Given the description of an element on the screen output the (x, y) to click on. 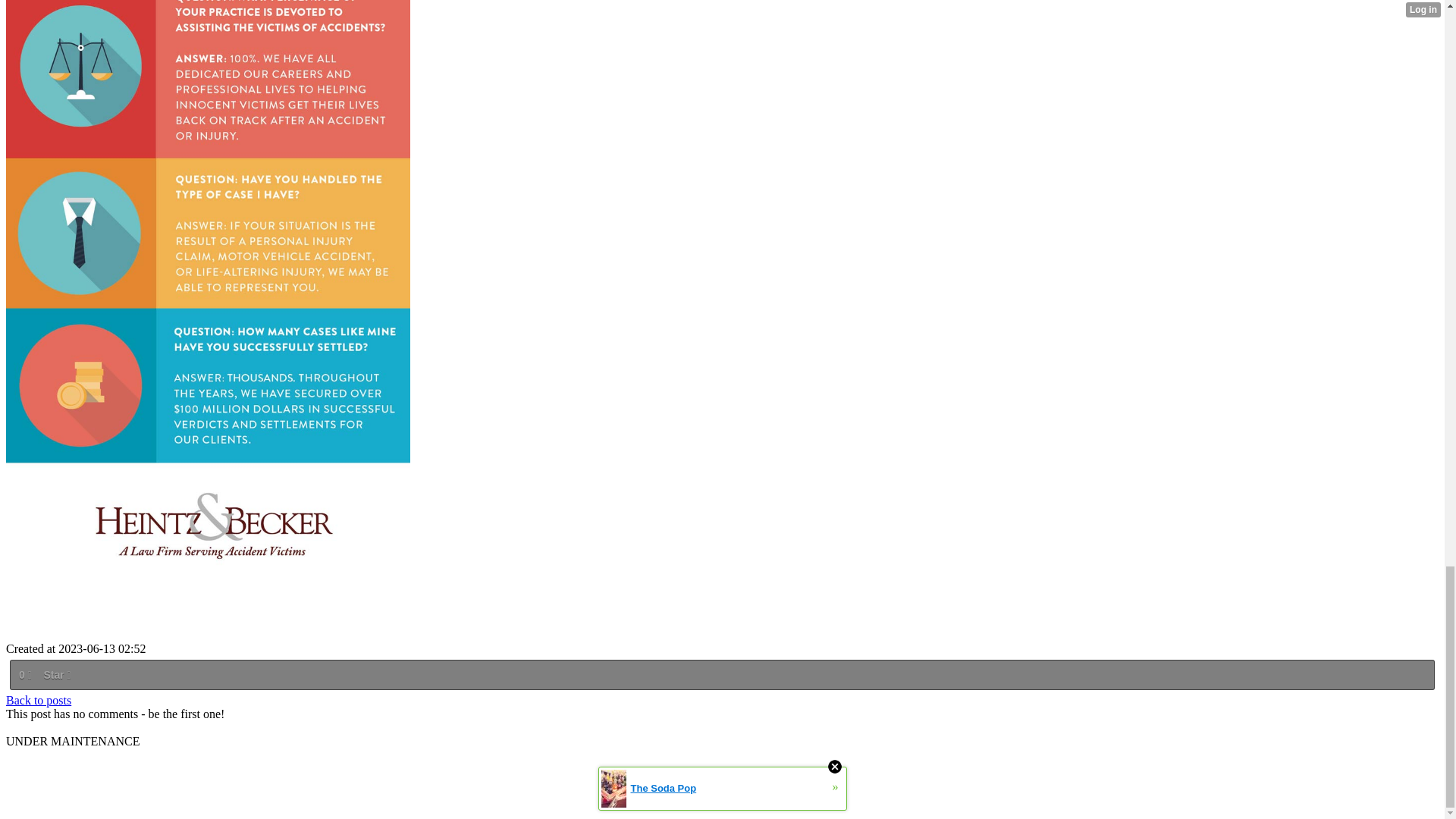
0 (24, 674)
Star (56, 674)
Back to posts (38, 699)
